Given the description of an element on the screen output the (x, y) to click on. 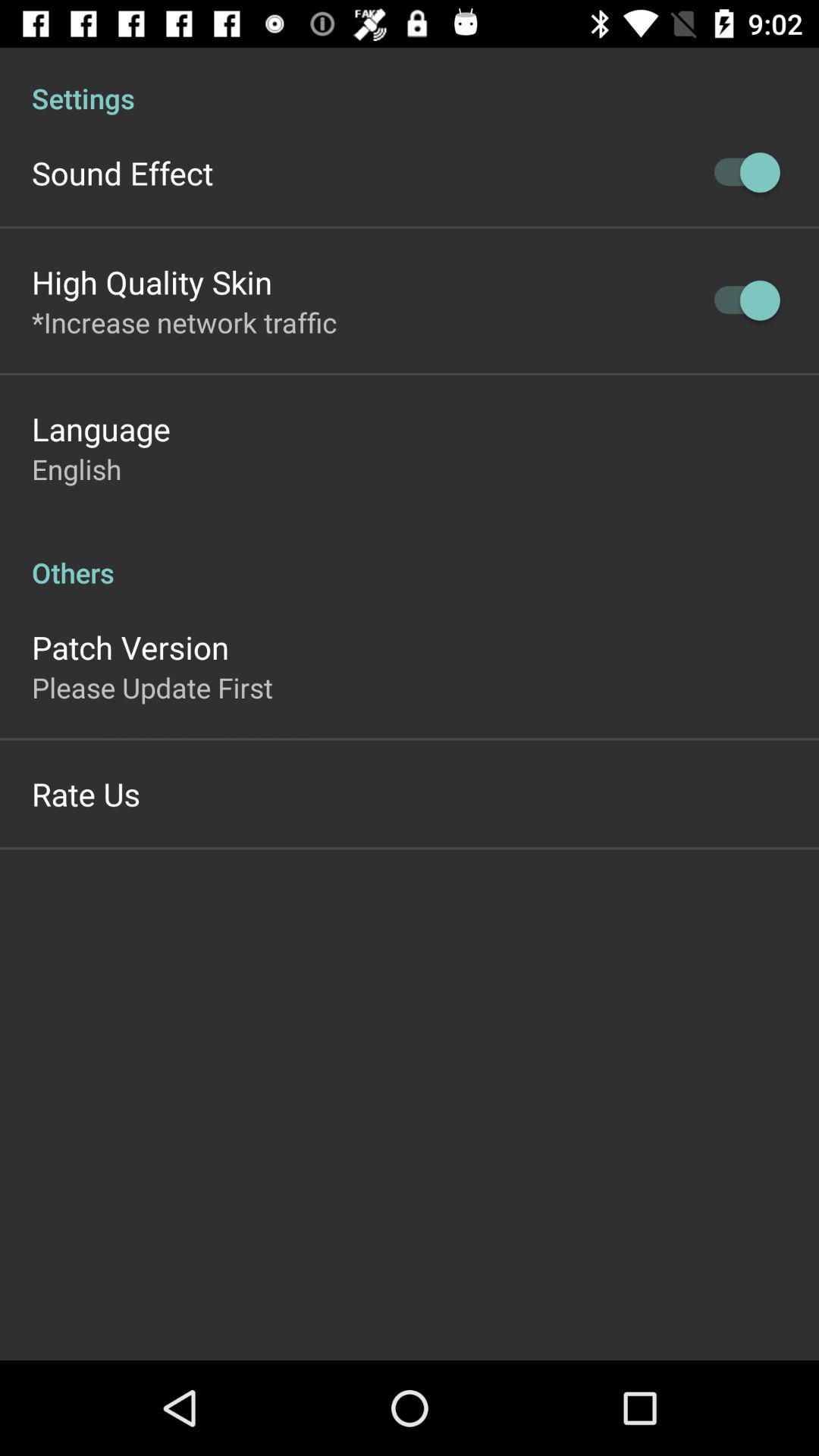
press item above the high quality skin app (122, 172)
